Given the description of an element on the screen output the (x, y) to click on. 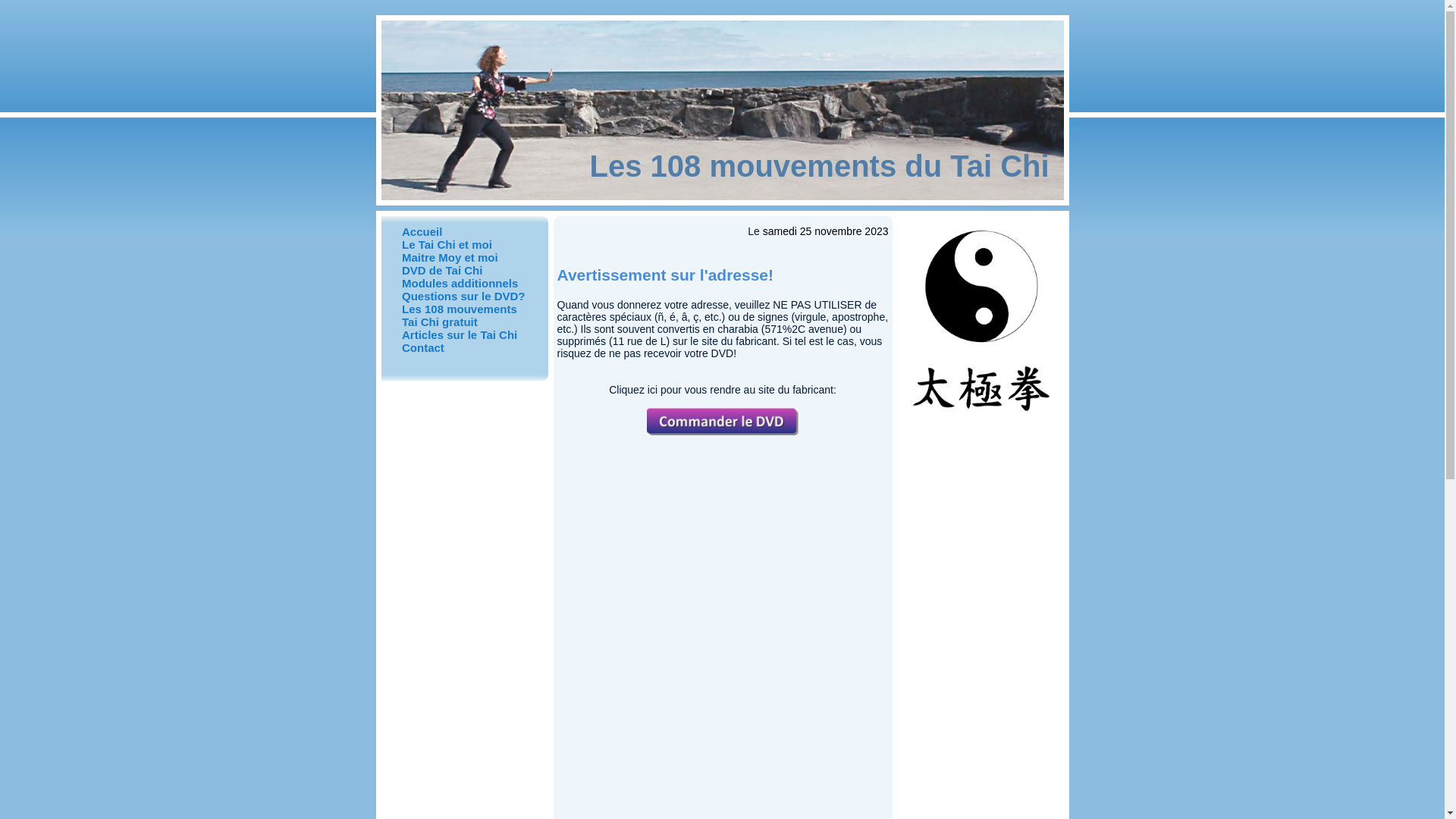
Contact Element type: text (422, 347)
Commander le DVD de Tai Chi Element type: hover (722, 421)
Articles sur le Tai Chi Element type: text (459, 334)
DVD de Tai Chi Element type: text (441, 269)
Tai Chi gratuit Element type: text (439, 321)
Questions sur le DVD? Element type: text (463, 295)
Symbole Yin-Yang Element type: hover (980, 286)
Accueil Element type: text (421, 231)
Modules additionnels Element type: text (459, 282)
Les 108 mouvements Element type: text (459, 308)
Le Tai Chi et moi Element type: text (446, 244)
Maitre Moy et moi Element type: text (449, 257)
